Given the description of an element on the screen output the (x, y) to click on. 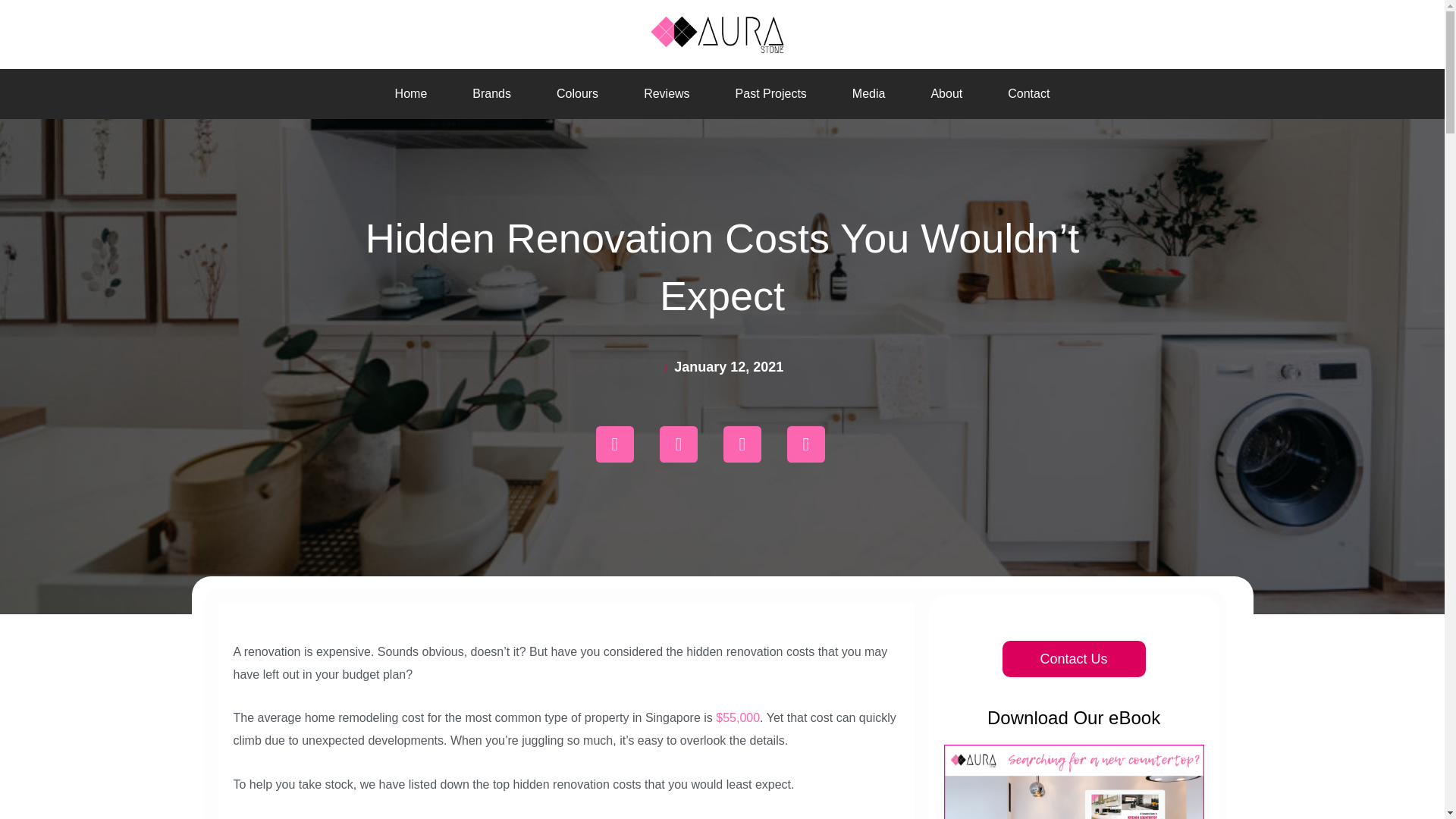
Media (869, 93)
Share on linkedin (805, 443)
About (945, 93)
Share on facebook (678, 443)
Share on twitter (742, 443)
Colours (576, 93)
Home (411, 93)
Past Projects (771, 93)
Share on whatsapp (615, 443)
Brands (491, 93)
